Given the description of an element on the screen output the (x, y) to click on. 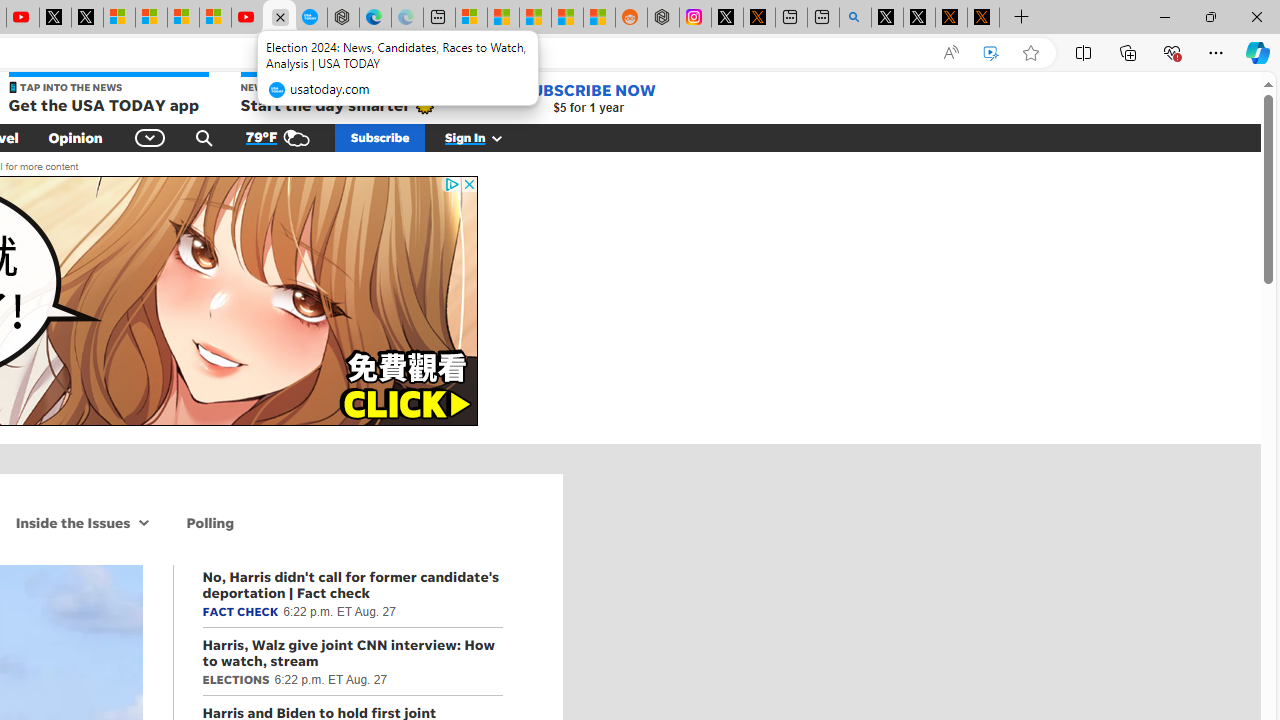
AutomationID: close_button_svg (468, 184)
Global Navigation (150, 137)
Shanghai, China Weather trends | Microsoft Weather (599, 17)
Log in to X / X (727, 17)
Sign In (485, 137)
Opinion (75, 137)
Polling (210, 521)
